Given the description of an element on the screen output the (x, y) to click on. 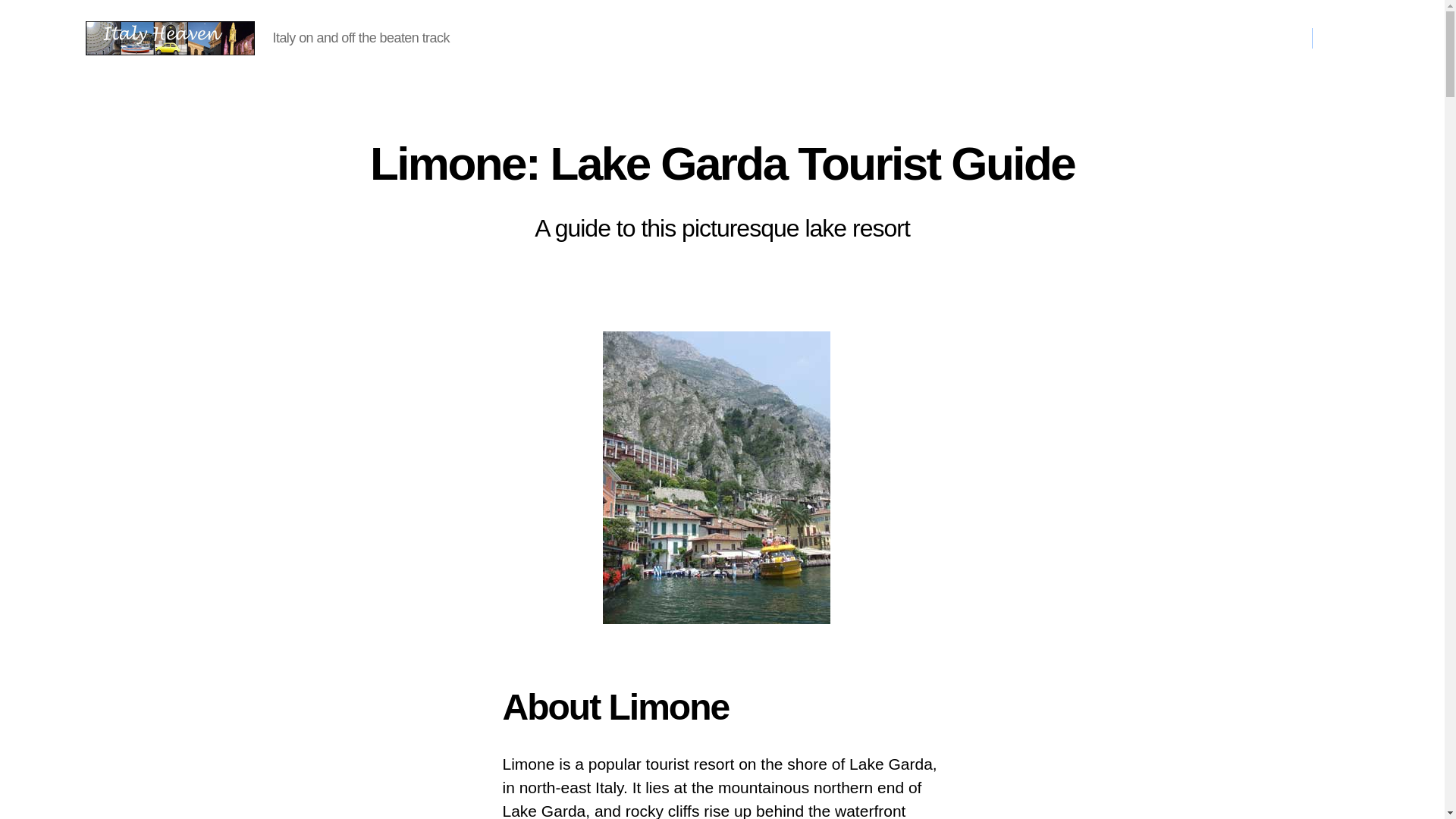
Accommodation (759, 38)
Itineraries (860, 38)
Blog (1268, 38)
Home (571, 38)
Destinations (651, 38)
Discover Italy (1029, 38)
Rome (1111, 38)
Venice (1168, 38)
Travel (940, 38)
Sicily (1221, 38)
